Given the description of an element on the screen output the (x, y) to click on. 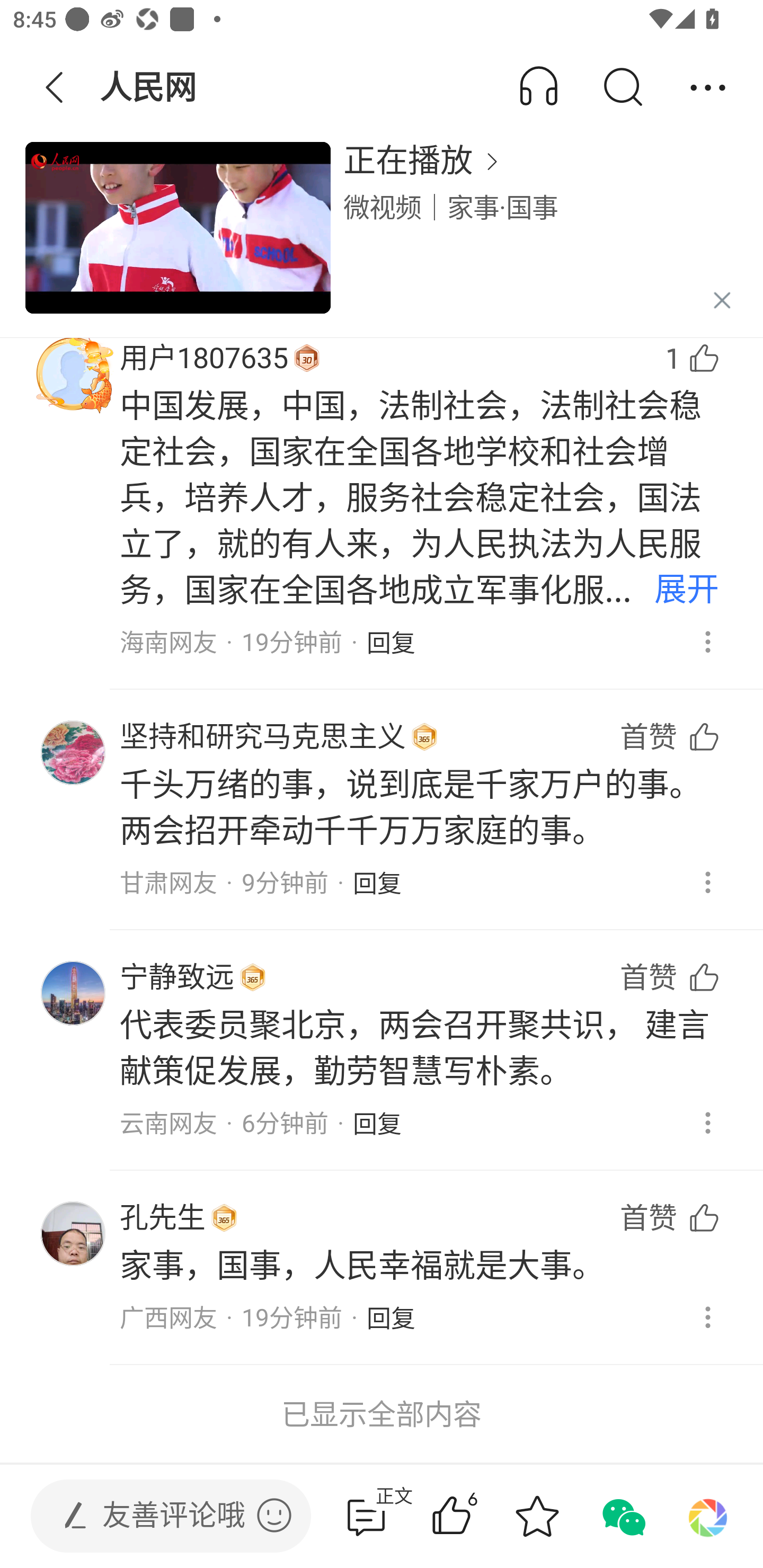
人民网 (150, 87)
搜索  (622, 87)
分享  (707, 87)
 返回 (54, 87)
正在播放  微视频｜家事·国事 (381, 237)
UserRightLabel_OneMedalView 勋章 (306, 358)
展开 (686, 590)
UserRightLabel_OneMedalView 勋章 (424, 736)
UserRightLabel_OneMedalView 勋章 (252, 976)
UserRightLabel_OneMedalView 勋章 (223, 1218)
已显示全部内容 (381, 1413)
已显示全部内容 (381, 1413)
发表评论  友善评论哦 发表评论  (155, 1516)
4评论  正文 正文 (365, 1516)
6赞 (476, 1516)
收藏  (536, 1516)
分享到微信  (622, 1516)
分享到朋友圈 (707, 1516)
 (274, 1515)
